Given the description of an element on the screen output the (x, y) to click on. 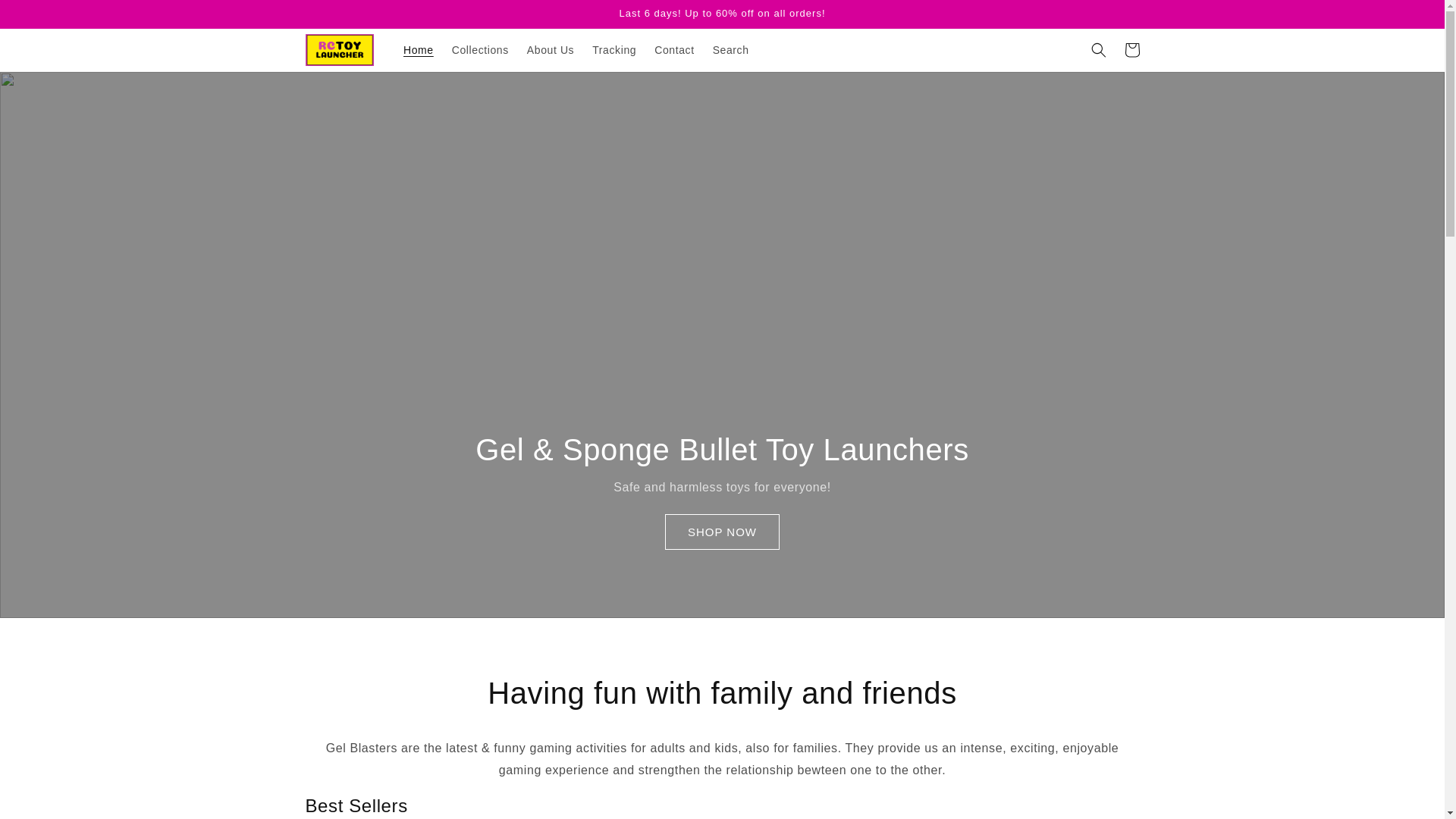
Cart (1131, 49)
Collections (480, 50)
SHOP NOW (721, 531)
Home (418, 50)
Tracking (614, 50)
About Us (550, 50)
Skip to content (45, 17)
Contact (674, 50)
Search (730, 50)
